Given the description of an element on the screen output the (x, y) to click on. 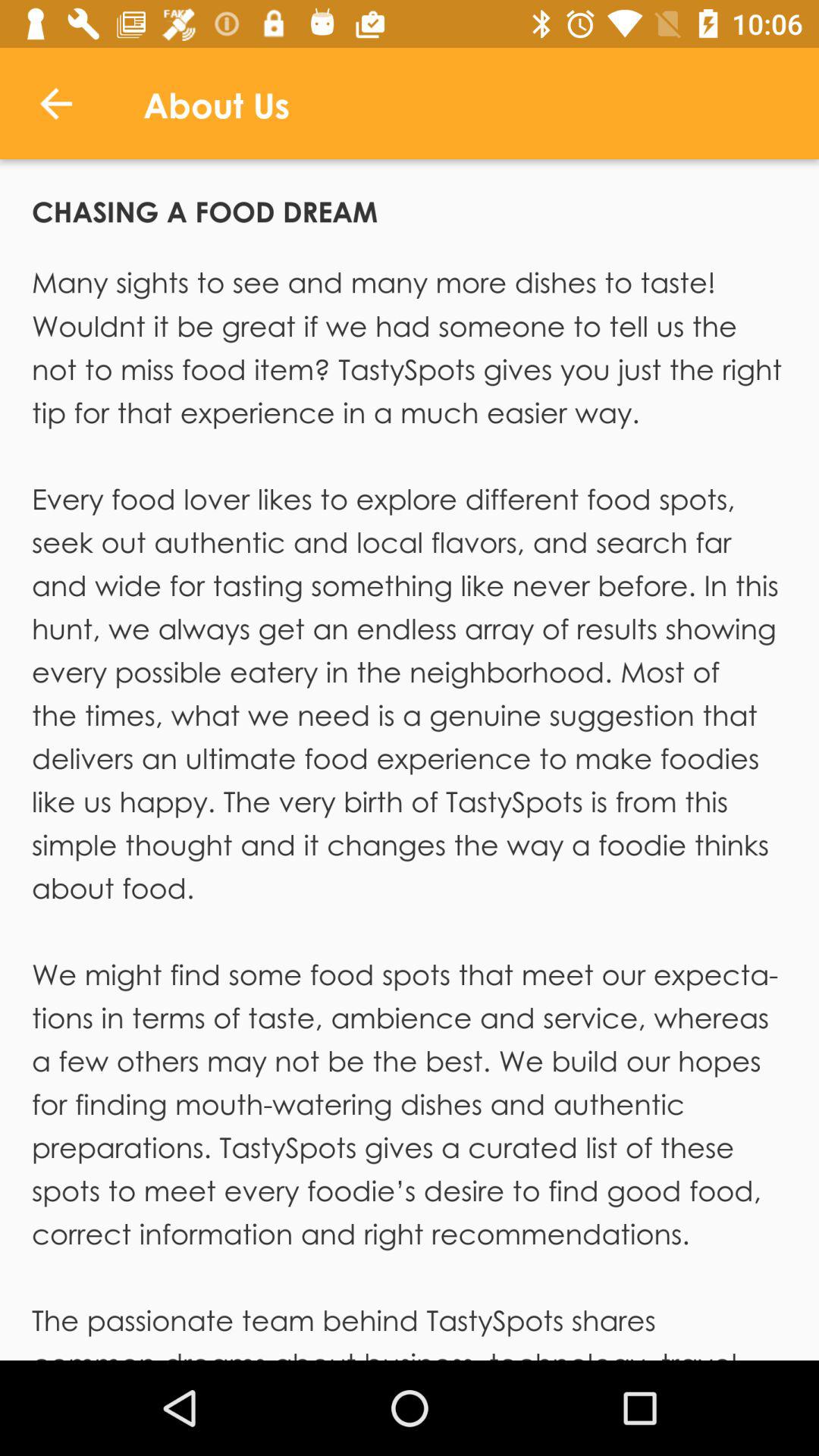
select the item next to the about us icon (55, 103)
